Given the description of an element on the screen output the (x, y) to click on. 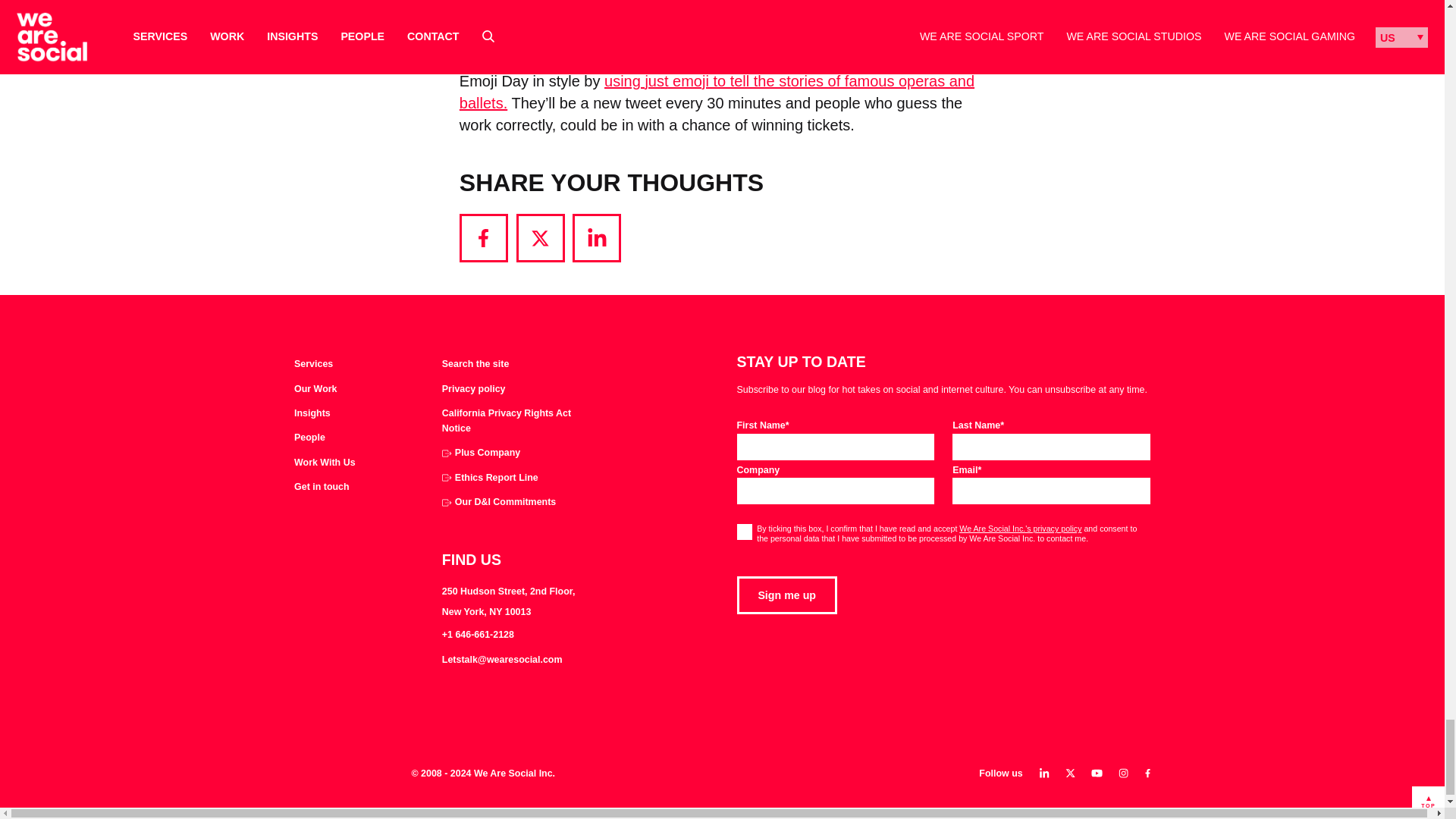
Share via Facebook (484, 237)
Services (313, 364)
Share via Facebook (484, 237)
Services (313, 364)
Work (315, 389)
Share via LinkedIn (596, 237)
Share via Twitter (540, 237)
About (309, 437)
